Given the description of an element on the screen output the (x, y) to click on. 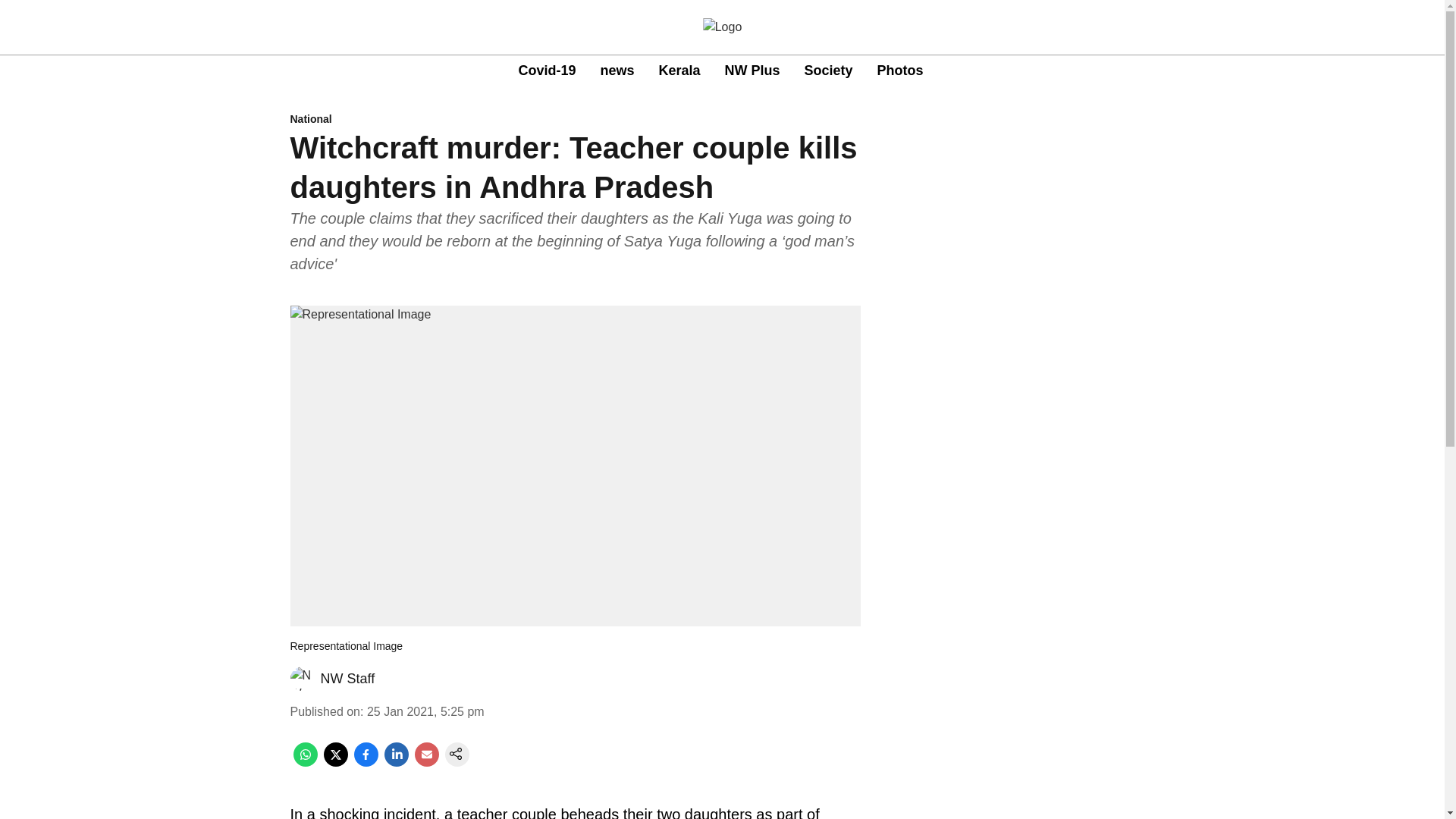
2021-01-25 09:25 (425, 711)
NW Staff (347, 678)
Society (719, 70)
Photos (829, 70)
National (900, 70)
Covid-19 (574, 119)
Kerala (546, 70)
NW Plus (679, 70)
news (752, 70)
